Given the description of an element on the screen output the (x, y) to click on. 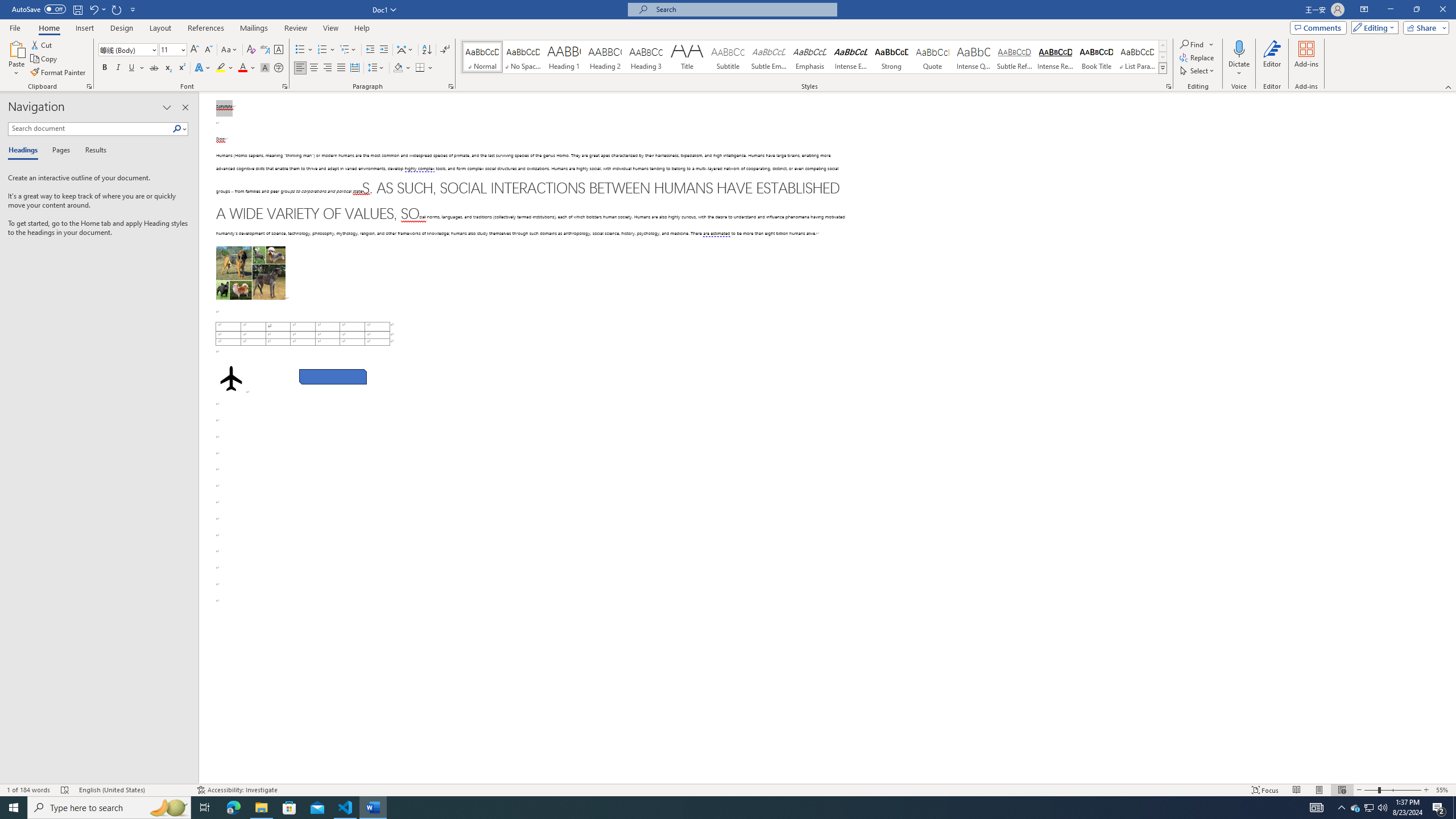
Phonetic Guide... (264, 49)
Strong (891, 56)
Italic (118, 67)
Row up (1162, 45)
Clear Formatting (250, 49)
Web Layout (1342, 790)
Morphological variation in six dogs (250, 272)
Numbering (326, 49)
Decrease Indent (370, 49)
Replace... (1197, 56)
View (330, 28)
Center (313, 67)
Increase Indent (383, 49)
Zoom 55% (1443, 790)
